Given the description of an element on the screen output the (x, y) to click on. 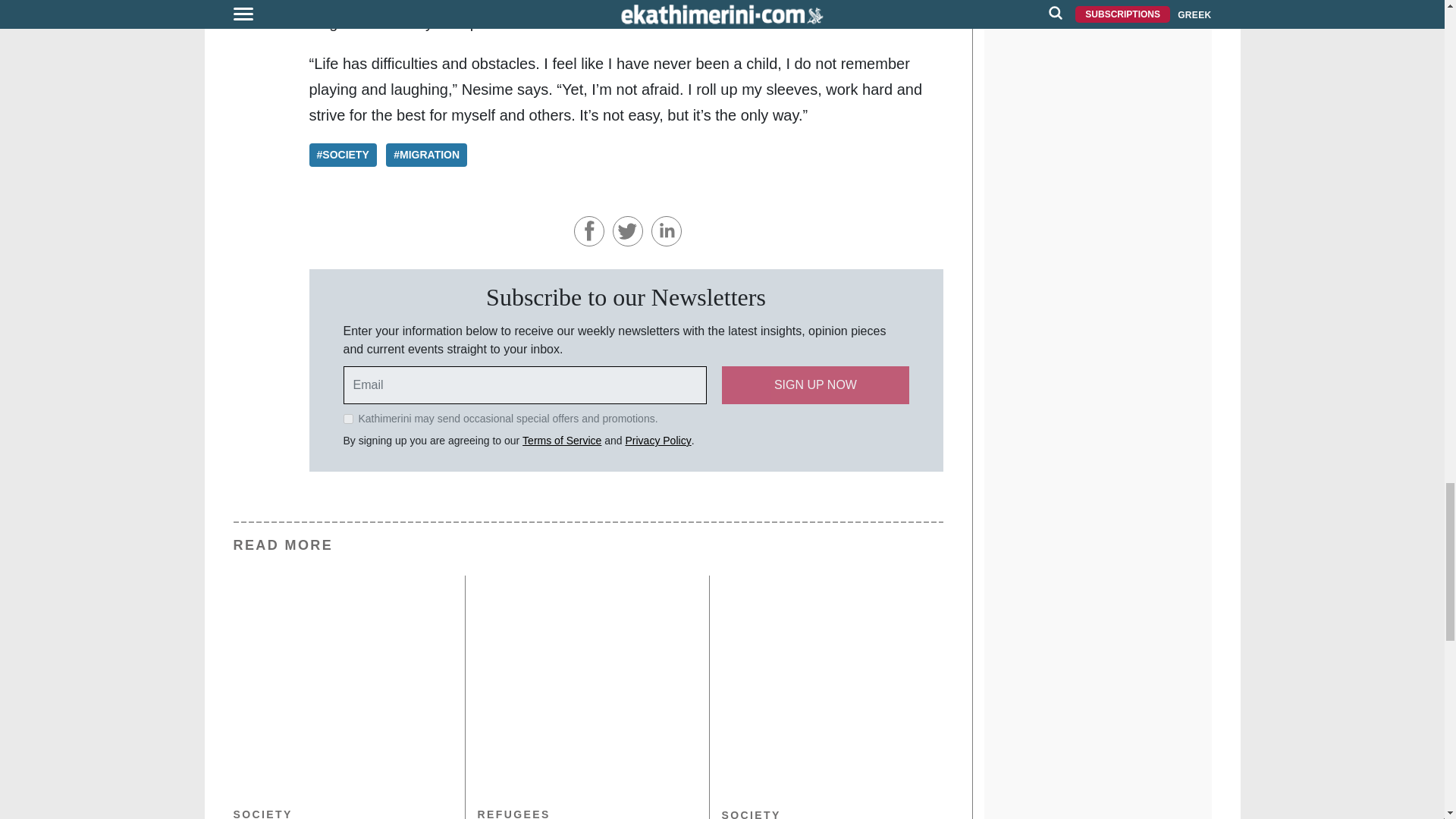
on (347, 419)
